Given the description of an element on the screen output the (x, y) to click on. 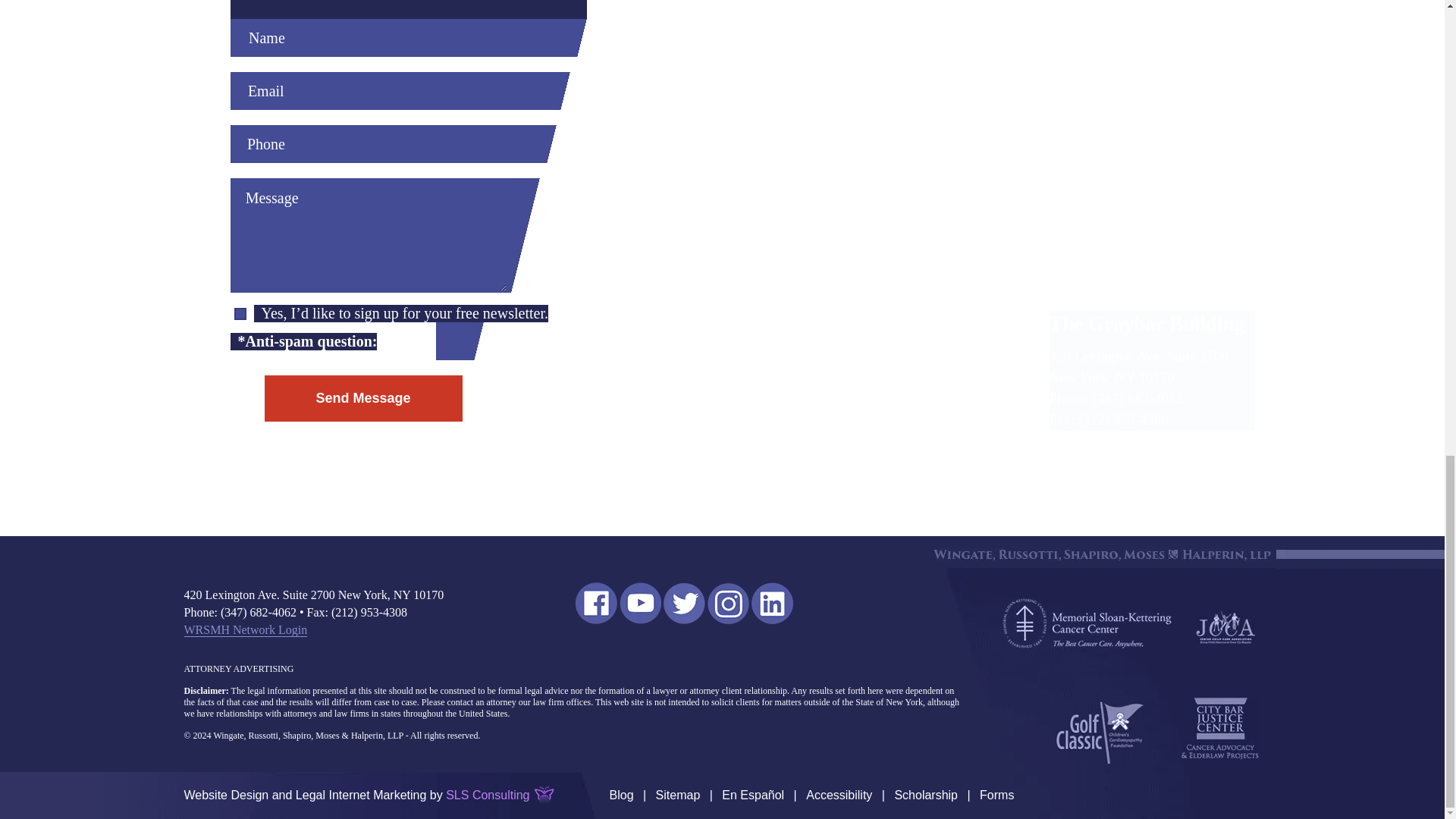
yes (239, 313)
Send Message (362, 398)
Name (402, 37)
Phone (387, 143)
Email (393, 90)
